Given the description of an element on the screen output the (x, y) to click on. 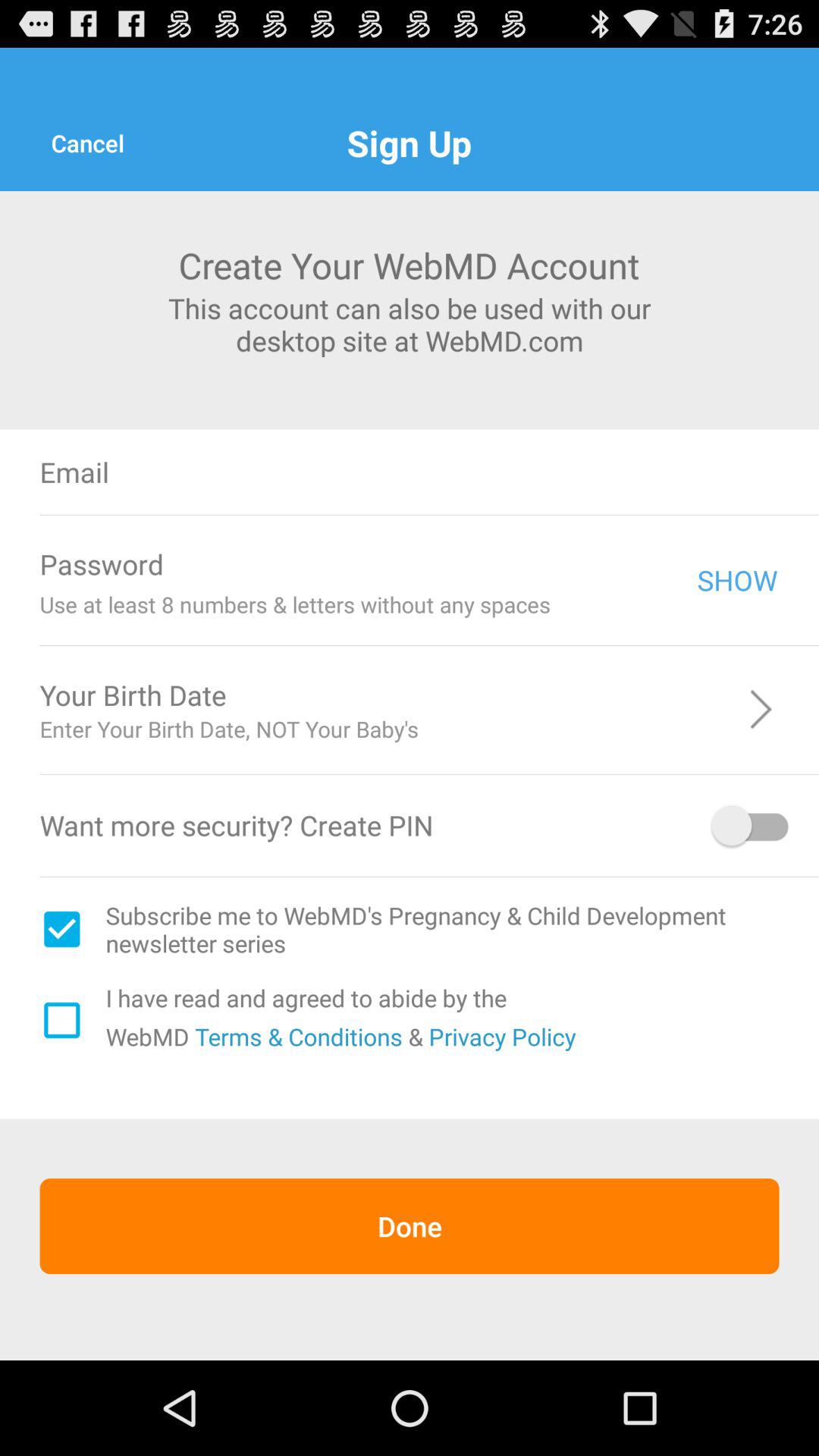
select the item to the left of subscribe me to item (61, 929)
